Given the description of an element on the screen output the (x, y) to click on. 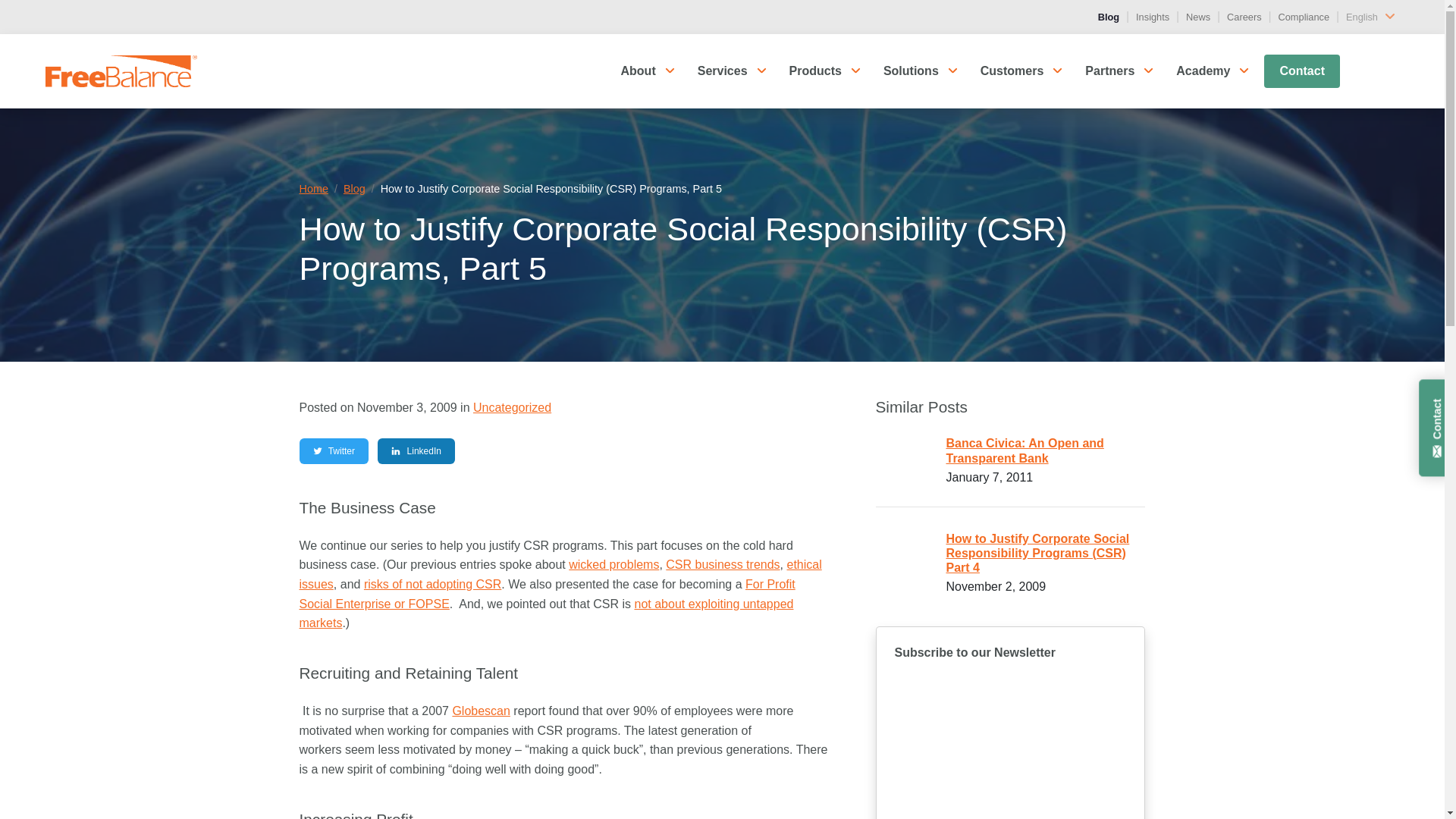
News (1197, 16)
English (1372, 16)
Blog (1108, 16)
Careers (1244, 16)
Solutions (910, 70)
About (637, 70)
Customers (1012, 70)
Share on LinkedIn (415, 451)
Services (722, 70)
Insights (1152, 16)
